Given the description of an element on the screen output the (x, y) to click on. 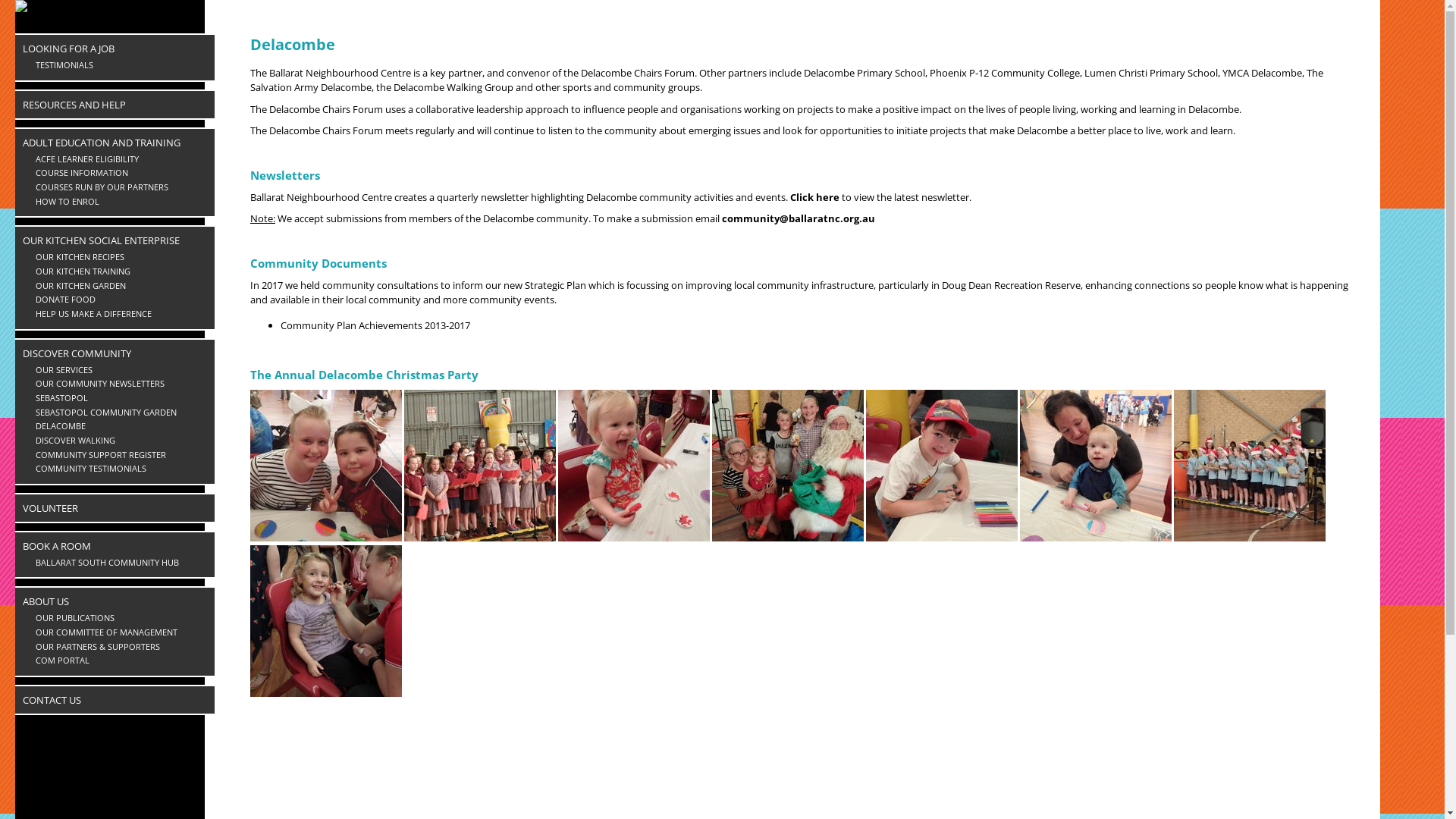
LOOKING FOR A JOB Element type: text (114, 48)
BOOK A ROOM Element type: text (114, 545)
OUR KITCHEN TRAINING Element type: text (118, 271)
DISCOVER COMMUNITY Element type: text (114, 353)
COURSES RUN BY OUR PARTNERS Element type: text (118, 187)
OUR SERVICES Element type: text (118, 370)
HELP US MAKE A DIFFERENCE Element type: text (118, 314)
OUR PARTNERS & SUPPORTERS Element type: text (118, 646)
Community Plan Achievements 2013-2017 Element type: text (375, 325)
OUR KITCHEN GARDEN Element type: text (118, 285)
HOW TO ENROL Element type: text (118, 201)
CONTACT US Element type: text (114, 699)
TESTIMONIALS Element type: text (118, 65)
Ballarat Neighbourhood Centre Element type: hover (109, 24)
VOLUNTEER Element type: text (114, 508)
COMMUNITY SUPPORT REGISTER Element type: text (118, 454)
COMMUNITY TESTIMONIALS Element type: text (118, 468)
Click here Element type: text (814, 196)
COM PORTAL Element type: text (118, 660)
ADULT EDUCATION AND TRAINING Element type: text (114, 142)
SEBASTOPOL COMMUNITY GARDEN Element type: text (118, 412)
OUR KITCHEN SOCIAL ENTERPRISE Element type: text (114, 240)
SEBASTOPOL Element type: text (118, 398)
COURSE INFORMATION Element type: text (118, 172)
ABOUT US Element type: text (114, 601)
DELACOMBE Element type: text (118, 426)
RESOURCES AND HELP Element type: text (114, 104)
OUR KITCHEN RECIPES Element type: text (118, 257)
BALLARAT SOUTH COMMUNITY HUB Element type: text (118, 562)
OUR PUBLICATIONS Element type: text (118, 618)
OUR COMMUNITY NEWSLETTERS Element type: text (118, 383)
DONATE FOOD Element type: text (118, 299)
community@ballaratnc.org.au Element type: text (798, 218)
OUR COMMITTEE OF MANAGEMENT Element type: text (118, 632)
ACFE LEARNER ELIGIBILITY Element type: text (118, 159)
DISCOVER WALKING Element type: text (118, 440)
